Given the description of an element on the screen output the (x, y) to click on. 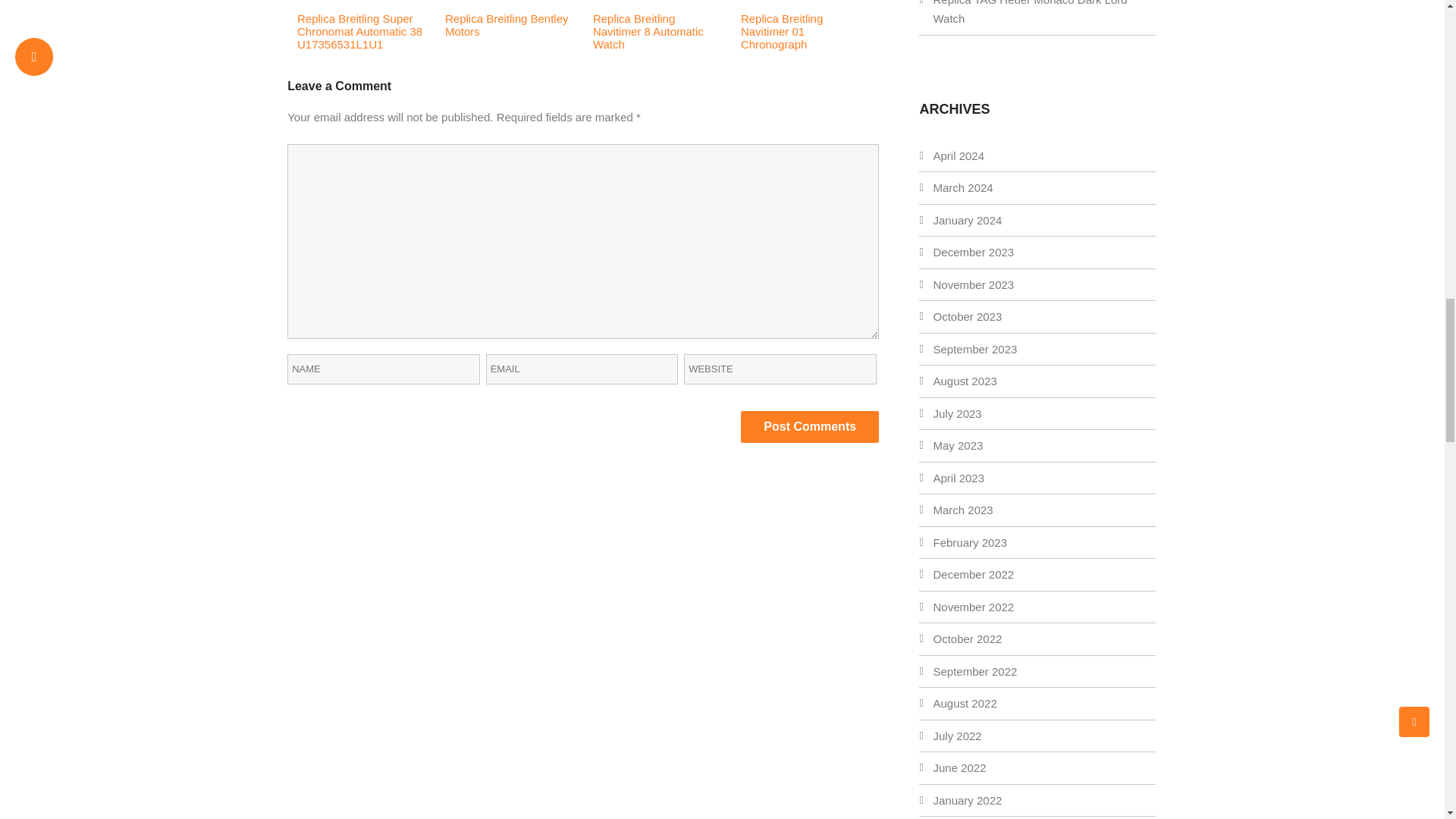
Post Comments (810, 427)
Replica Breitling Navitimer 8 Automatic Watch (647, 31)
Post Comments (810, 427)
Replica Breitling Bentley Motors (507, 24)
Replica Breitling Navitimer 01 Chronograph (781, 31)
Replica Breitling Super Chronomat Automatic 38 U17356531L1U1 (359, 31)
